Given the description of an element on the screen output the (x, y) to click on. 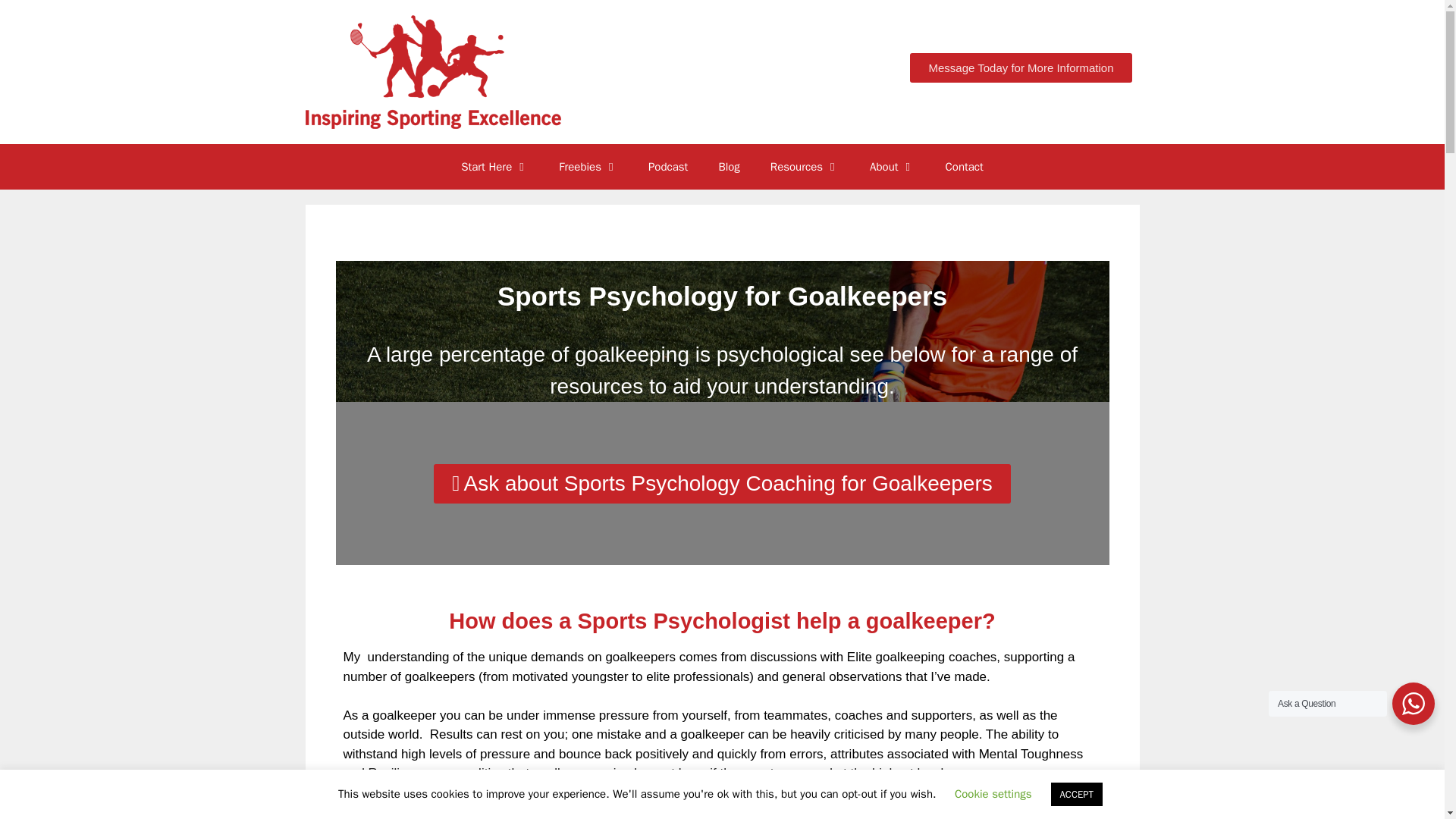
Contact (964, 166)
Blog (728, 166)
Start Here (494, 166)
Freebies (588, 166)
Message Today for More Information (1020, 67)
About (892, 166)
Podcast (668, 166)
Resources (804, 166)
